Given the description of an element on the screen output the (x, y) to click on. 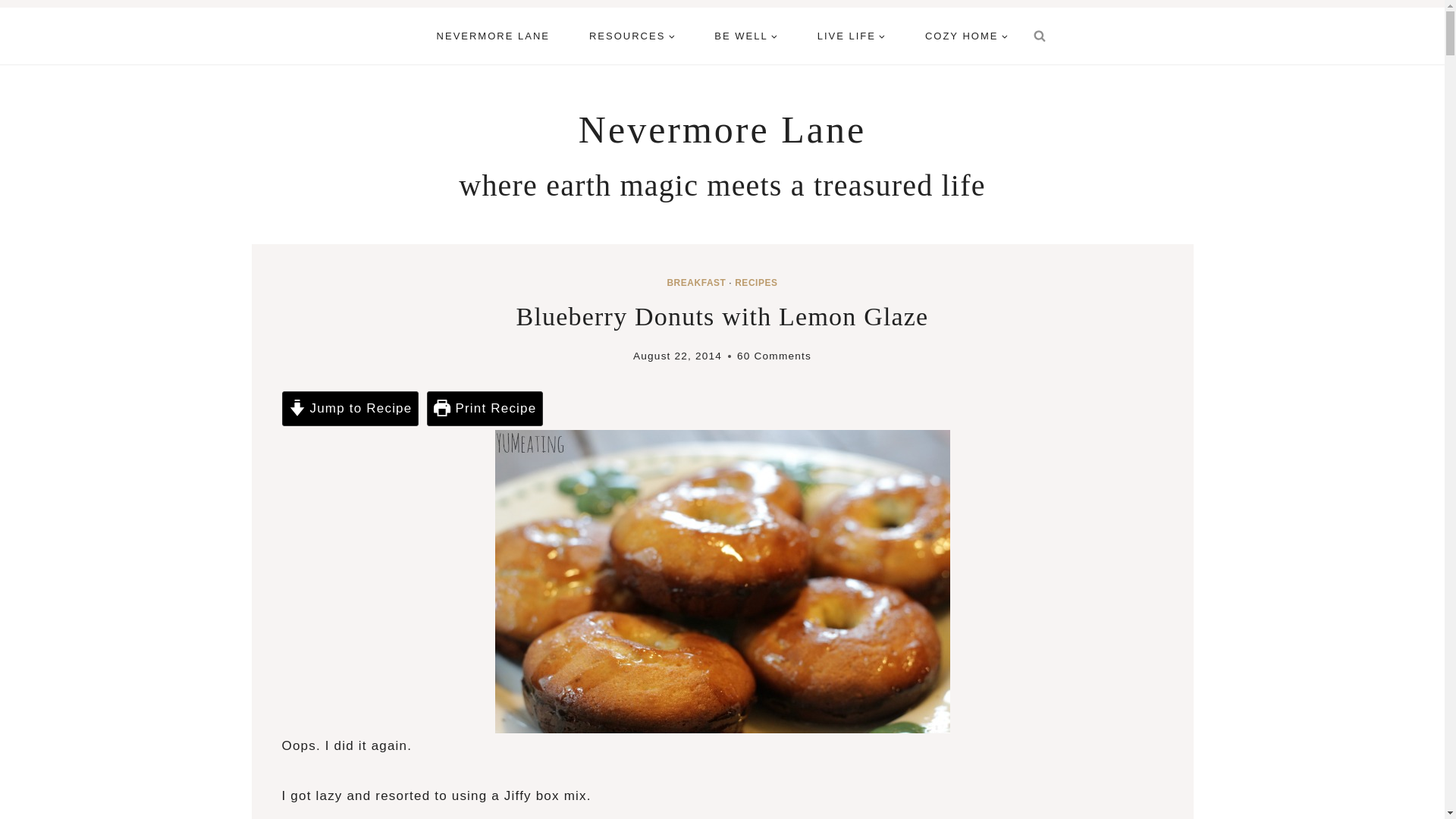
COZY HOME (966, 35)
LIVE LIFE (851, 35)
NEVERMORE LANE (492, 35)
BE WELL (745, 35)
60 Comments (773, 355)
RESOURCES (631, 35)
